Given the description of an element on the screen output the (x, y) to click on. 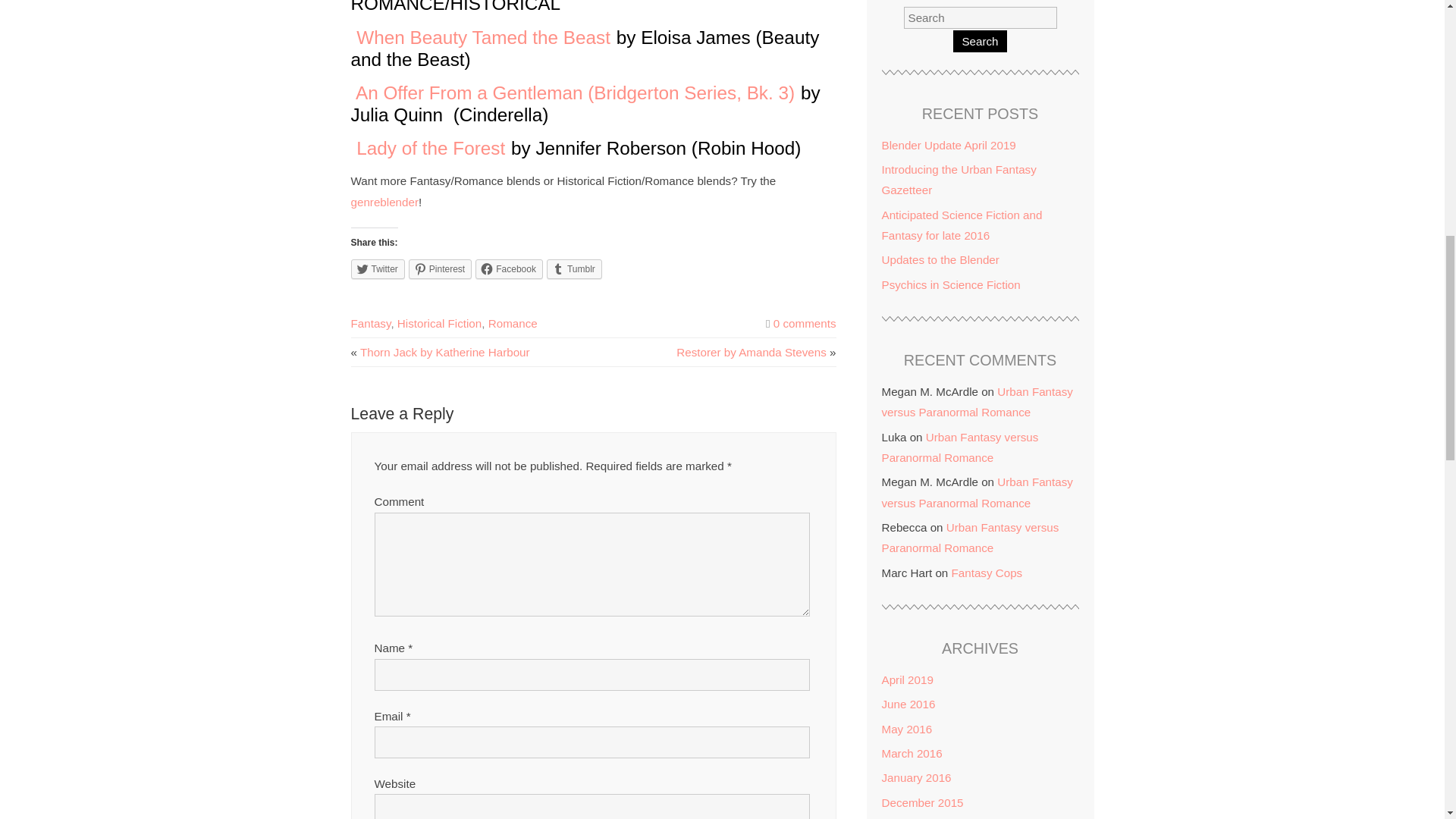
Historical Fiction (439, 323)
Facebook (509, 269)
Romance (512, 323)
Fantasy (370, 323)
Click to share on Facebook (509, 269)
Lady of the Forest (430, 148)
When Beauty Tamed the Beast (483, 37)
Click to share on Tumblr (574, 269)
Twitter (377, 269)
Click to share on Twitter (377, 269)
Pinterest (440, 269)
Tumblr (574, 269)
genre blender (384, 201)
Click to share on Pinterest (440, 269)
genreblender (384, 201)
